Given the description of an element on the screen output the (x, y) to click on. 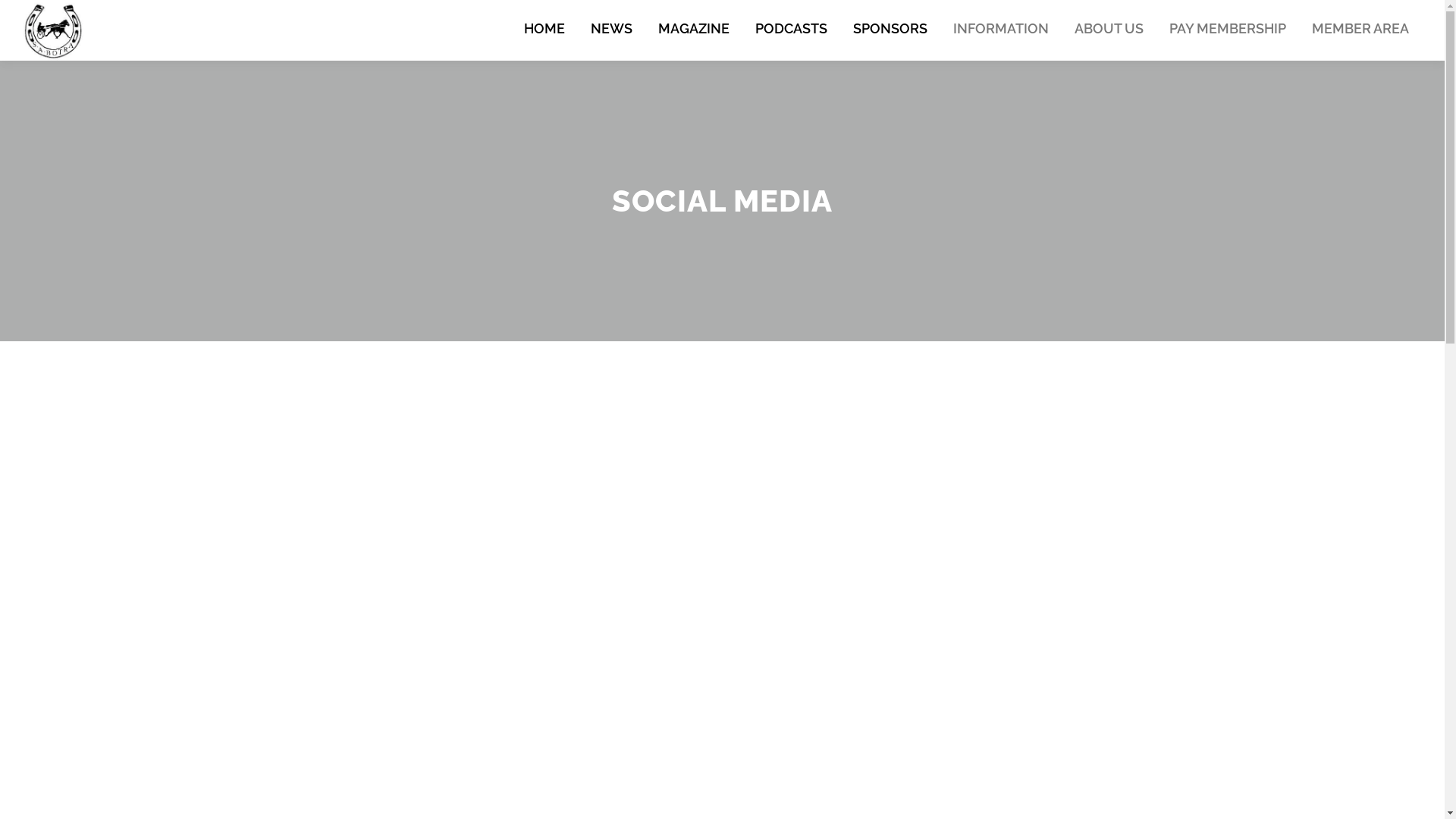
INFORMATION Element type: text (1000, 28)
MEMBER AREA Element type: text (1360, 28)
ABOUT US Element type: text (1108, 28)
HOME Element type: text (544, 28)
PODCASTS Element type: text (791, 28)
NEWS Element type: text (611, 28)
PAY MEMBERSHIP Element type: text (1227, 28)
MAGAZINE Element type: text (693, 28)
SPONSORS Element type: text (890, 28)
